Given the description of an element on the screen output the (x, y) to click on. 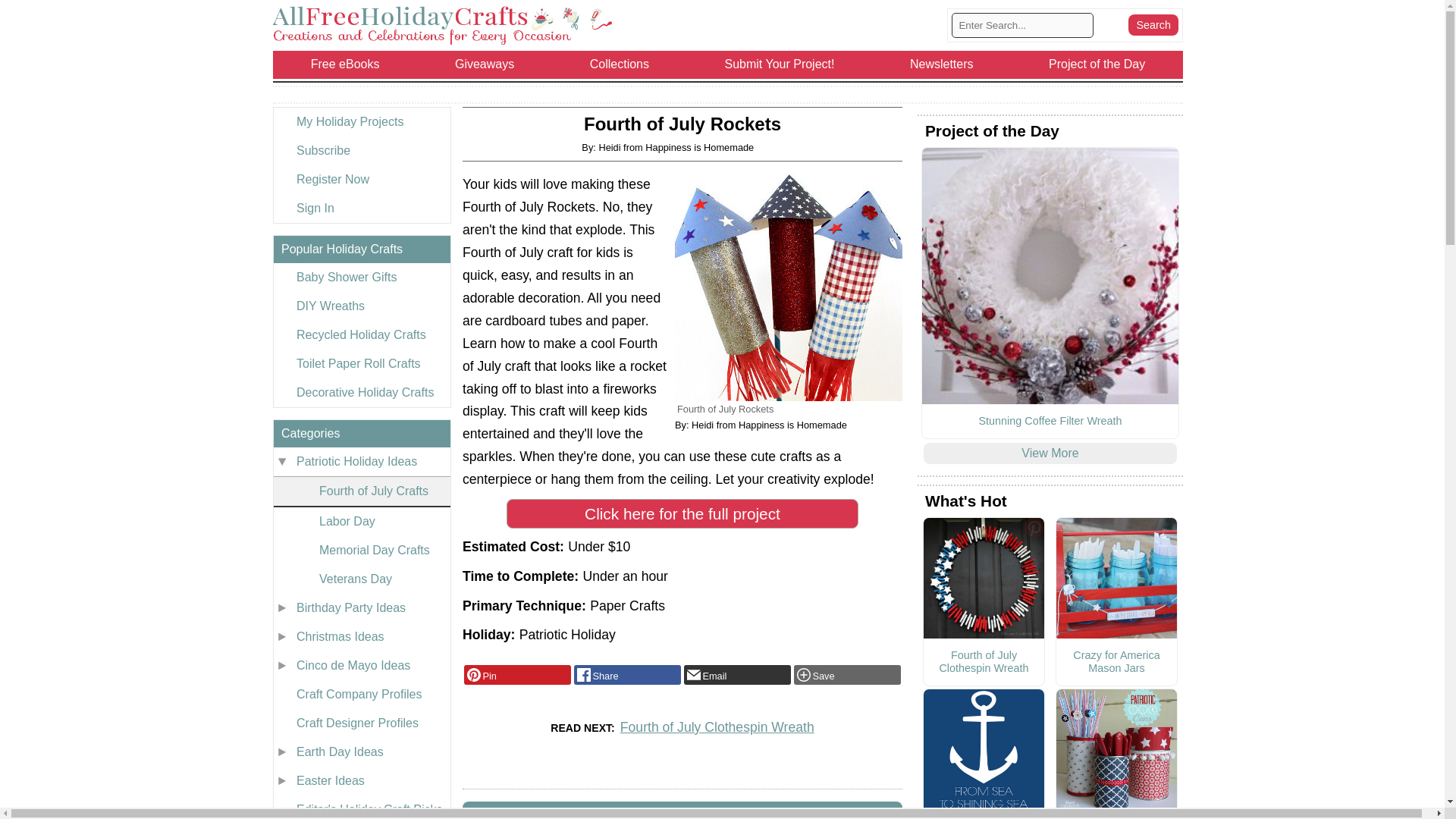
Add (847, 674)
Subscribe (361, 150)
Sign In (361, 208)
Email (737, 674)
My Holiday Projects (361, 121)
Search (1152, 25)
Register Now (361, 179)
Facebook (627, 674)
Fourth of July Rockets (788, 287)
